Given the description of an element on the screen output the (x, y) to click on. 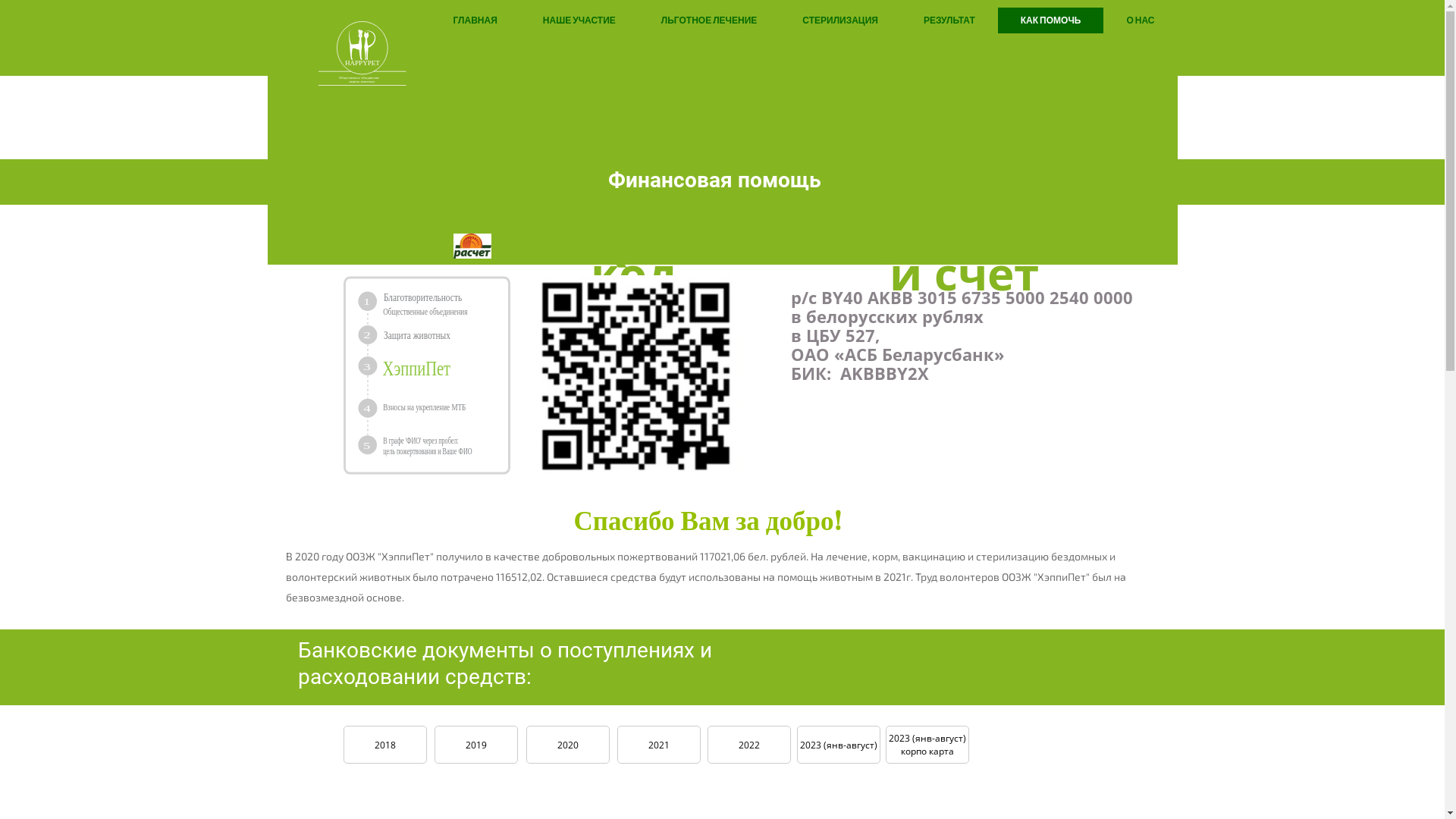
2019 Element type: text (475, 744)
2018 Element type: text (384, 744)
2020 Element type: text (567, 744)
2022 Element type: text (748, 744)
2021 Element type: text (658, 744)
